Given the description of an element on the screen output the (x, y) to click on. 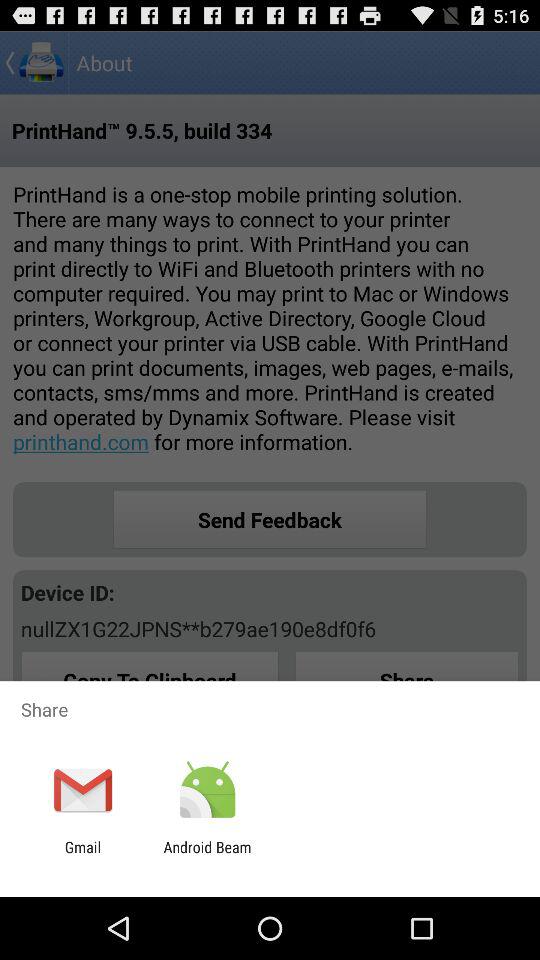
scroll until gmail (82, 856)
